Given the description of an element on the screen output the (x, y) to click on. 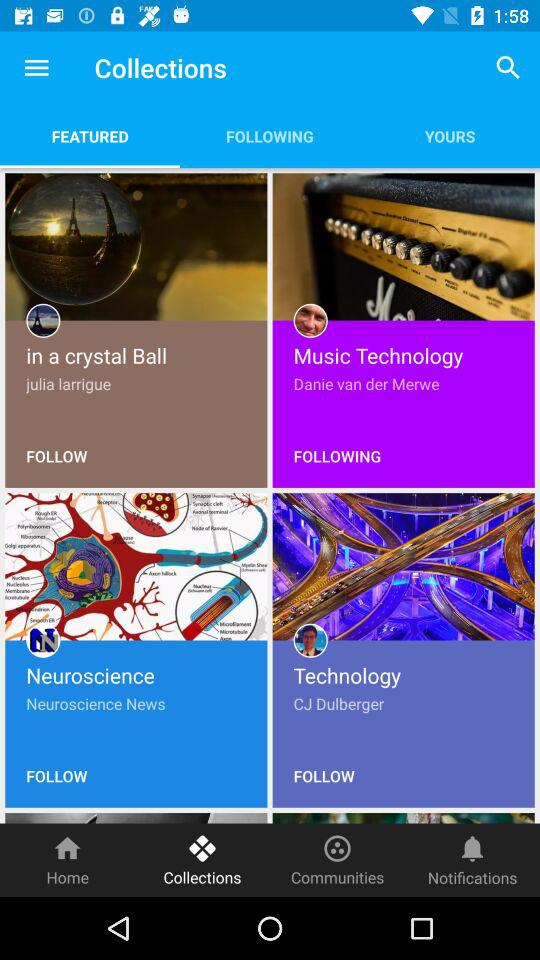
select the item next to the collections item (67, 859)
